Given the description of an element on the screen output the (x, y) to click on. 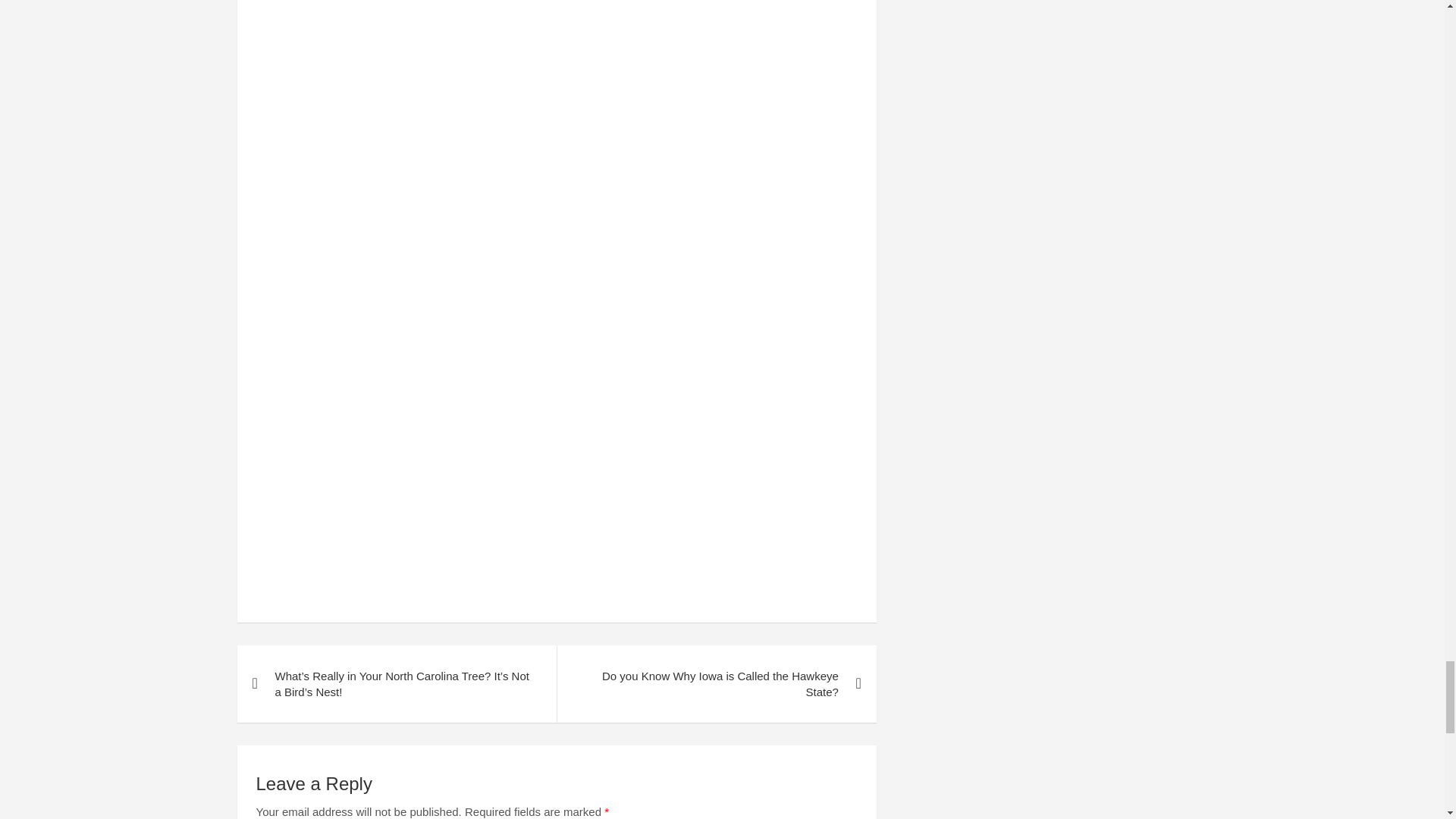
Do you Know Why Iowa is Called the Hawkeye State? (716, 683)
